Given the description of an element on the screen output the (x, y) to click on. 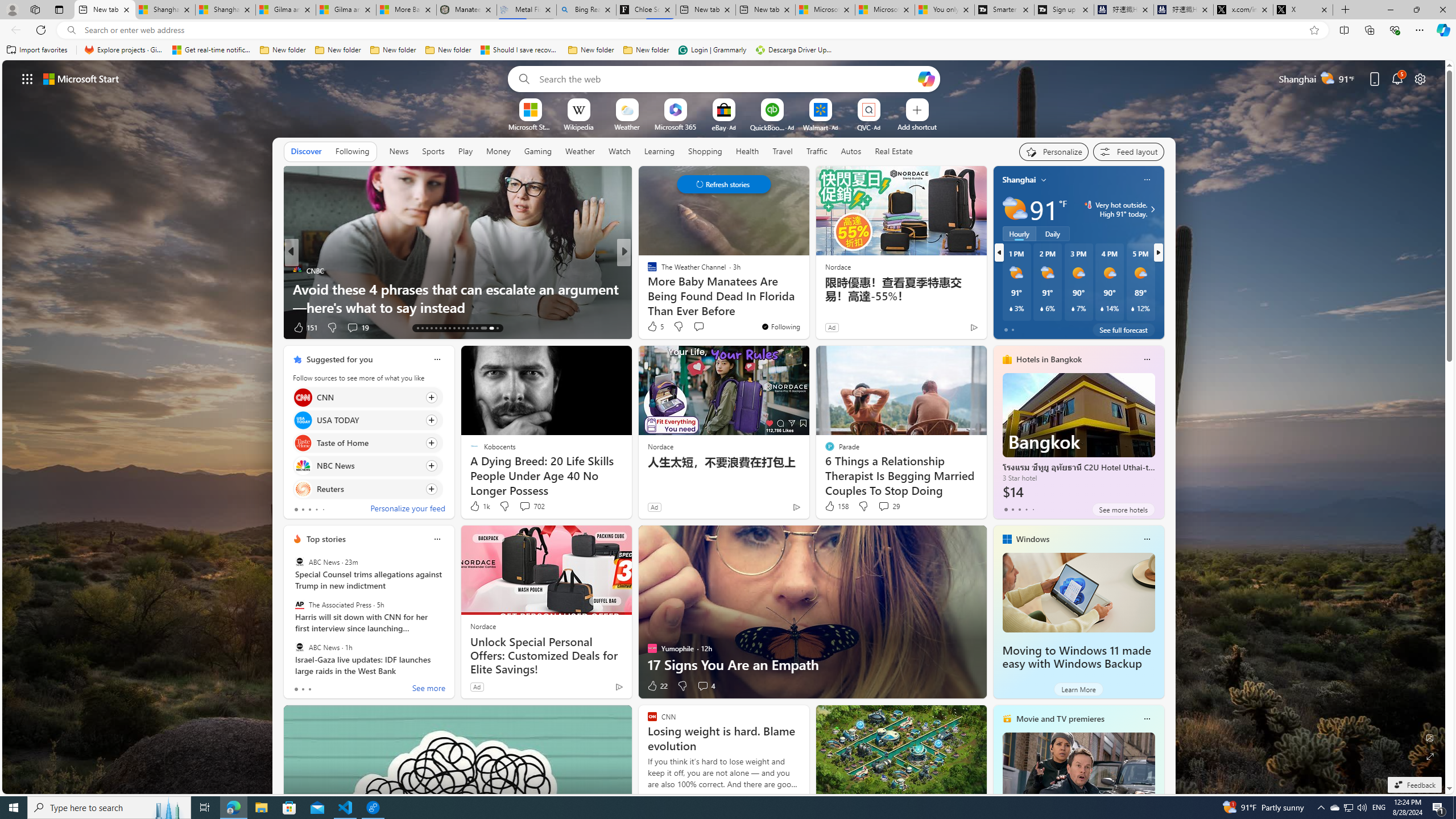
Microsoft 365 (675, 126)
Bing Real Estate - Home sales and rental listings (586, 9)
Class: icon-img (1146, 718)
App launcher (27, 78)
Personalize your feed (407, 509)
AutomationID: tab-23 (462, 328)
Click to follow source Taste of Home (367, 442)
To get missing image descriptions, open the context menu. (529, 109)
Wikipedia (578, 126)
Suggested for you (338, 359)
AutomationID: tab-13 (417, 328)
